Given the description of an element on the screen output the (x, y) to click on. 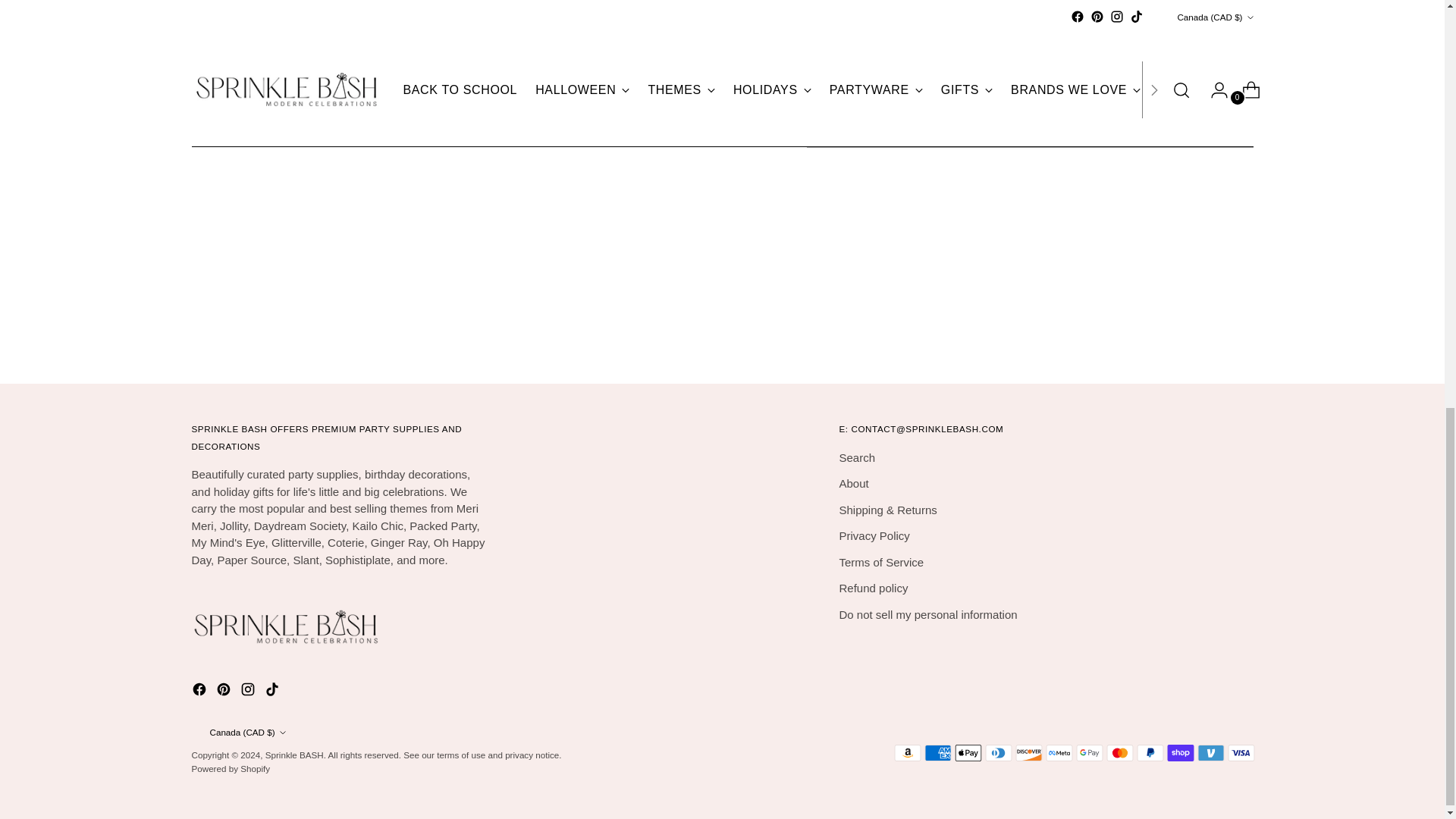
Sprinkle BASH on Tiktok (272, 691)
Sprinkle BASH on Pinterest (223, 691)
